Given the description of an element on the screen output the (x, y) to click on. 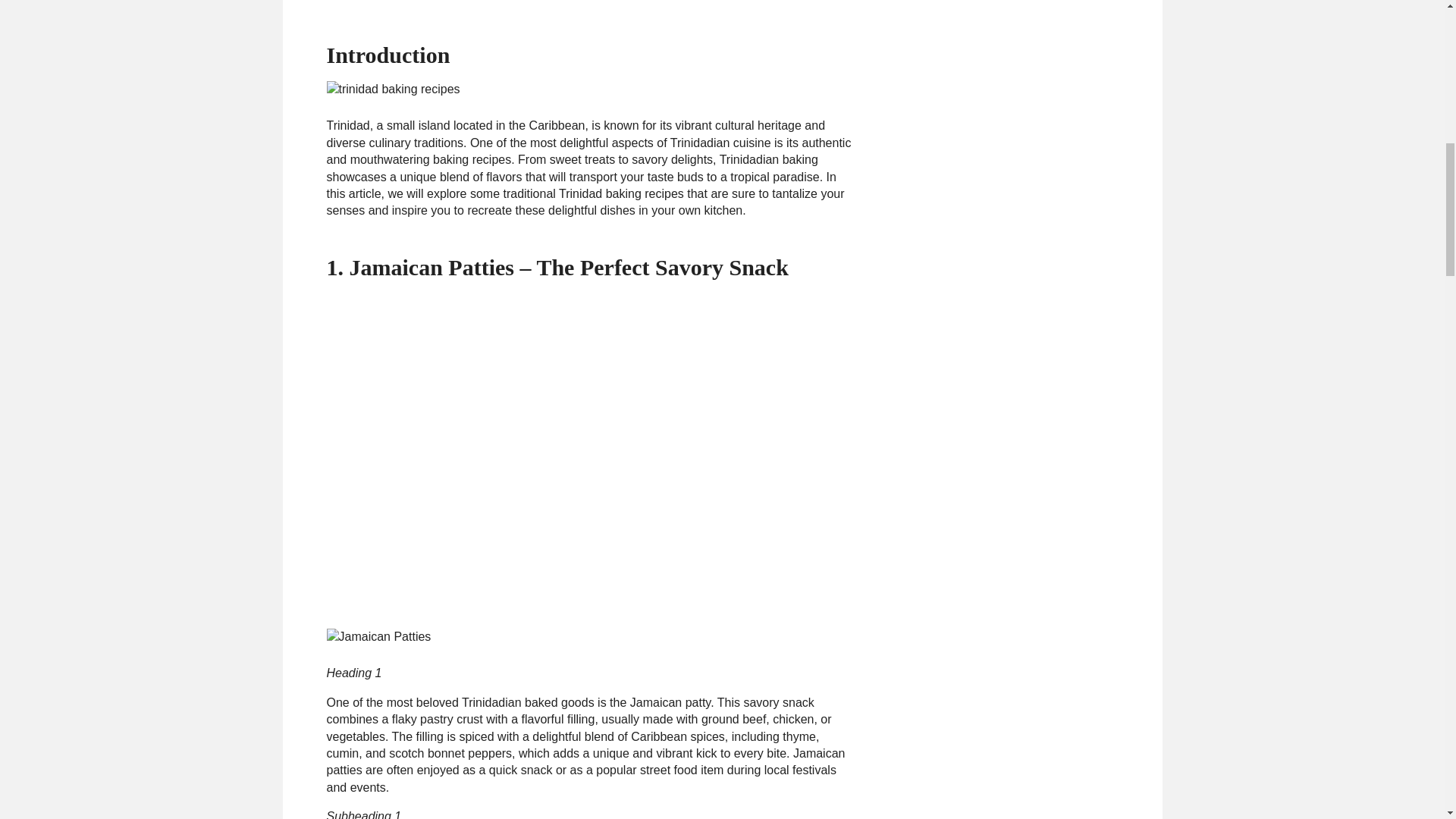
trinidad baking recipes (393, 89)
